Given the description of an element on the screen output the (x, y) to click on. 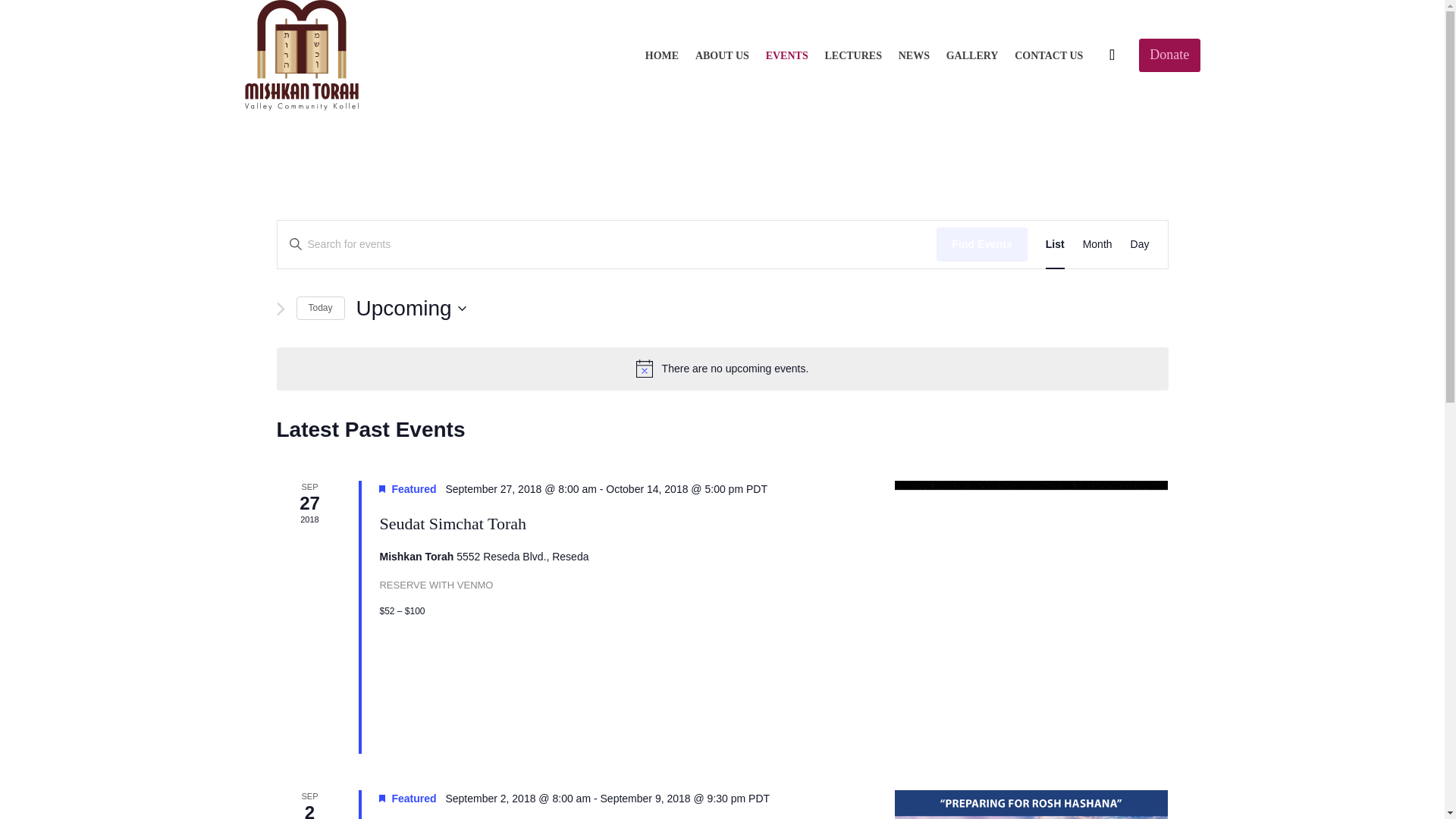
Seudat Simchat Torah (1031, 616)
Click to select today's date (319, 308)
Next Events (279, 309)
LECTURES (853, 56)
Upcoming (410, 308)
Featured (381, 489)
NEWS (913, 56)
ABOUT US (721, 56)
HOME (661, 56)
Day (1140, 244)
Preparing for Rosh Hashana (1031, 804)
Seudat Simchat Torah (451, 523)
CONTACT US (1049, 56)
Month (1097, 244)
